Given the description of an element on the screen output the (x, y) to click on. 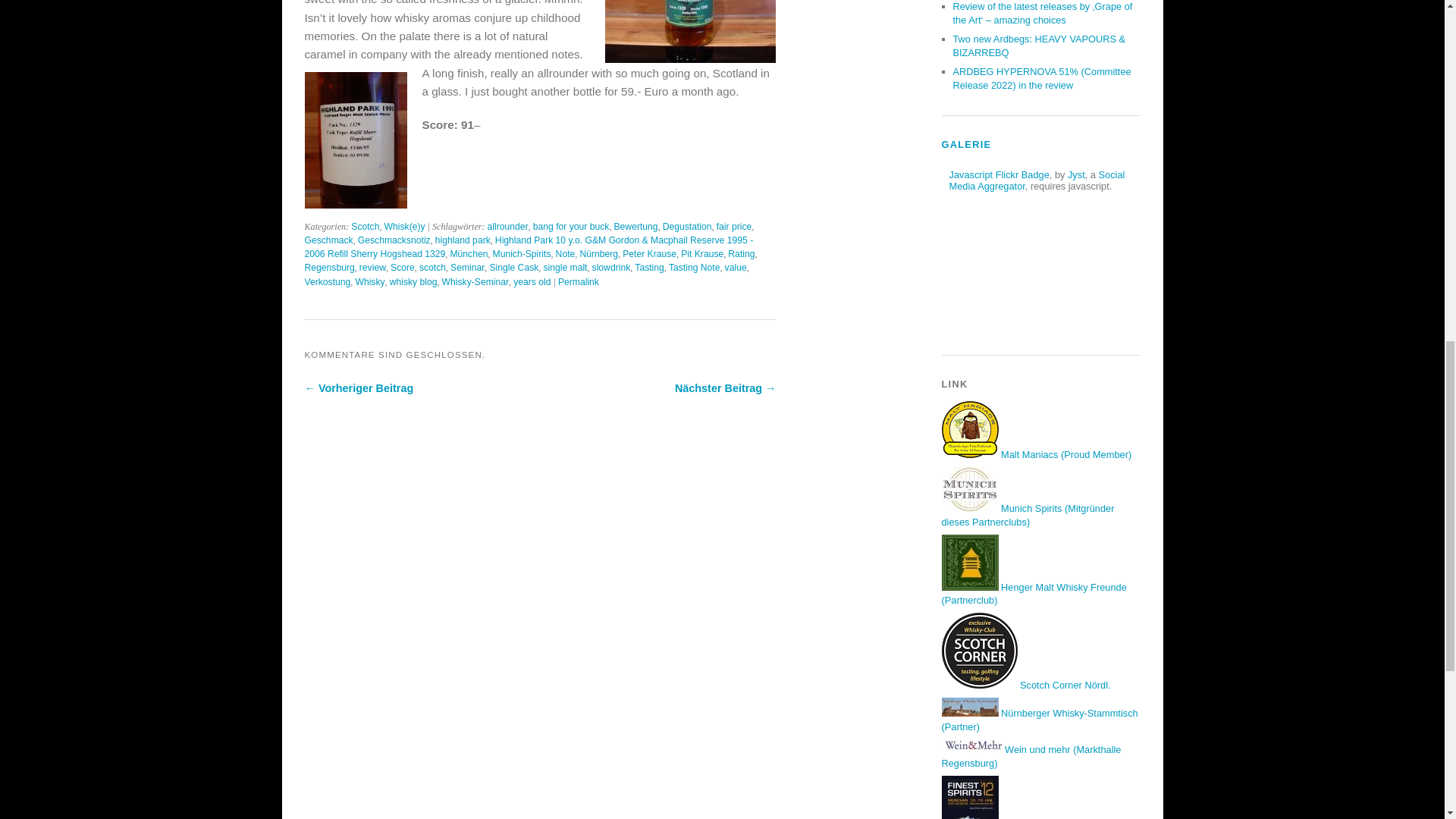
Social Media Aggregator (1037, 179)
Weine und Spirits in Regensburg (1031, 756)
Social Media Aggregator (1075, 174)
Weine und Spirits in Regensburg (972, 745)
